Given the description of an element on the screen output the (x, y) to click on. 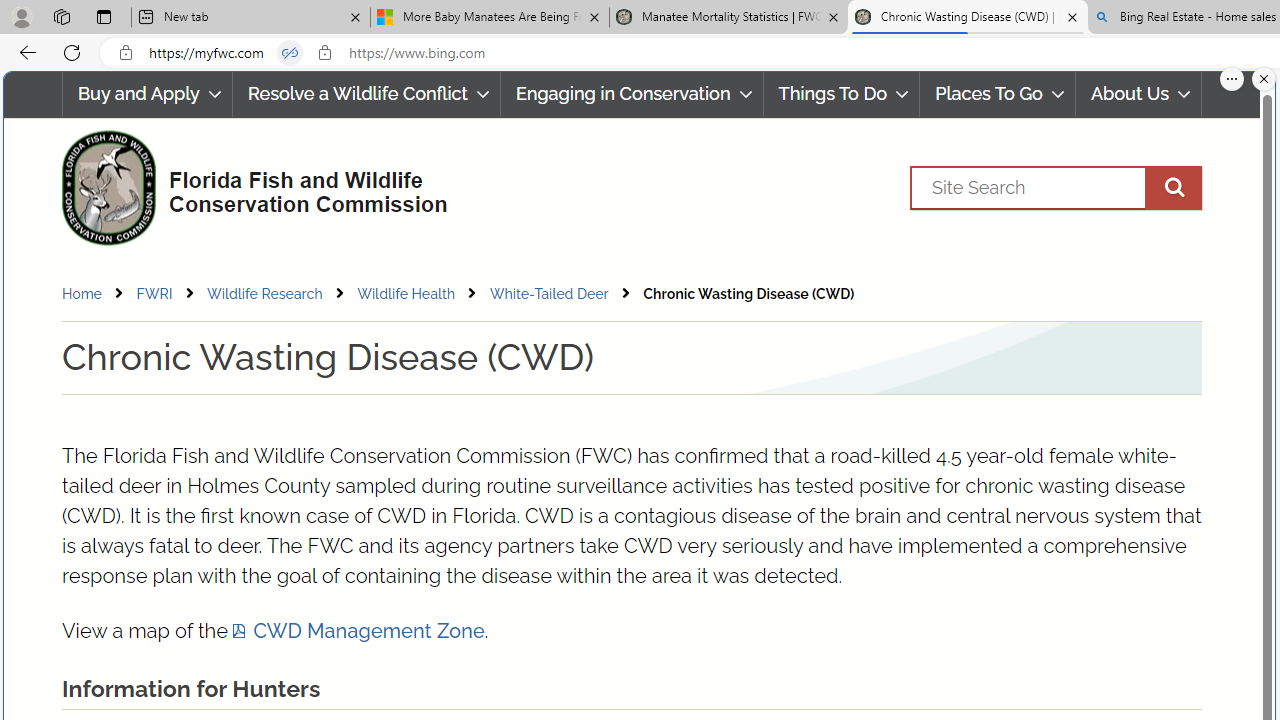
FWC Logo Florida Fish and Wildlife Conservation Commission (246, 185)
White-Tailed Deer (564, 293)
More options. (1232, 79)
White-Tailed Deer (548, 293)
Wildlife Health (406, 293)
Things To Do (841, 94)
FWRI (169, 293)
Resolve a Wildlife Conflict (365, 94)
Close split screen. (1264, 79)
Places To Go (998, 94)
Home (97, 293)
Wildlife Health (421, 293)
FWC Logo (108, 187)
Chronic Wasting Disease (CWD) (748, 294)
